Given the description of an element on the screen output the (x, y) to click on. 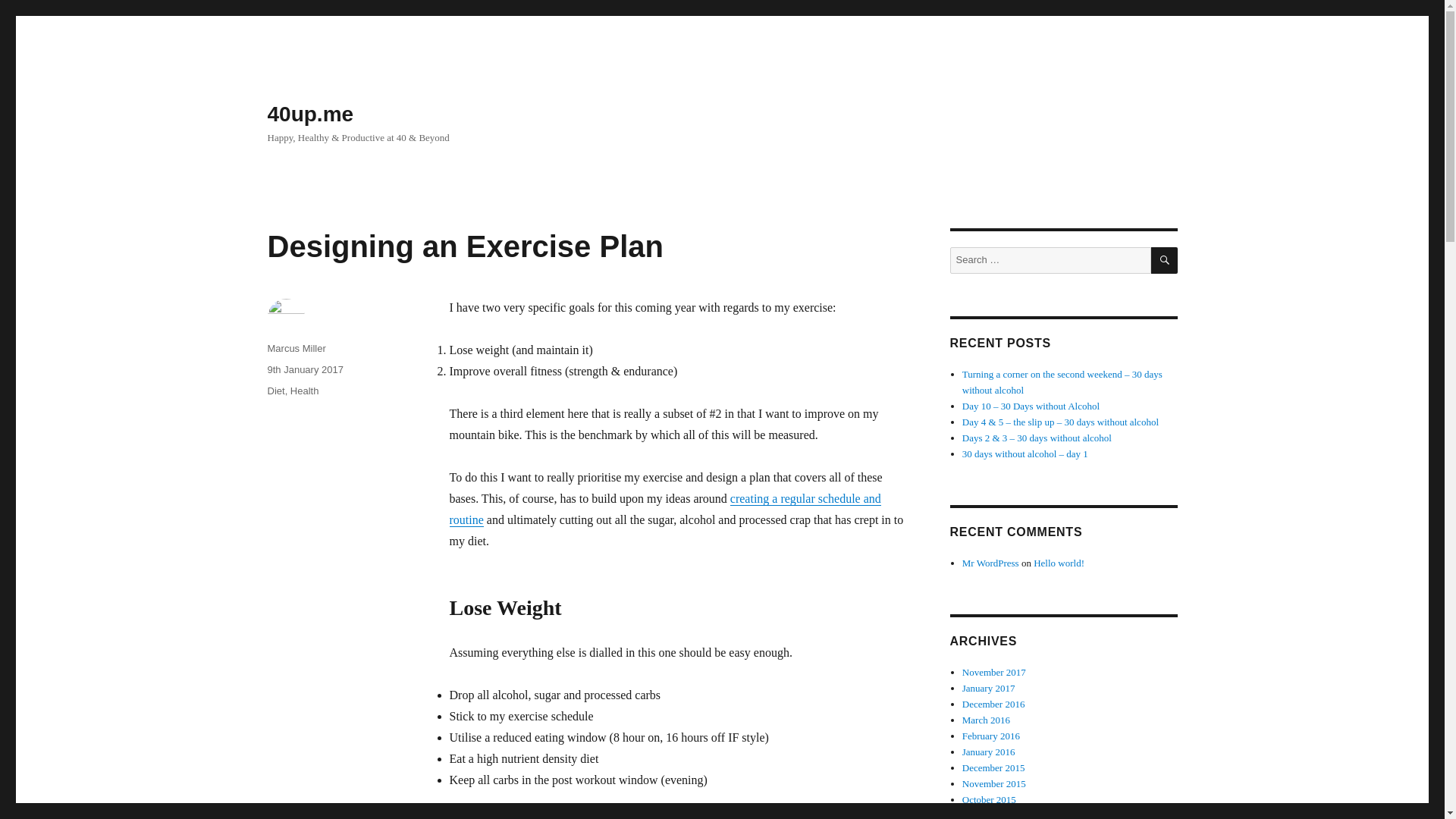
March 2016 (986, 719)
Mr WordPress (990, 562)
40up.me (309, 114)
January 2016 (988, 751)
Hello world! (1058, 562)
creating a regular schedule and routine (664, 509)
November 2015 (994, 783)
October 2015 (989, 799)
December 2016 (993, 704)
Marcus Miller (295, 348)
Health (303, 390)
Diet (274, 390)
9th January 2017 (304, 369)
December 2015 (993, 767)
January 2017 (988, 687)
